Given the description of an element on the screen output the (x, y) to click on. 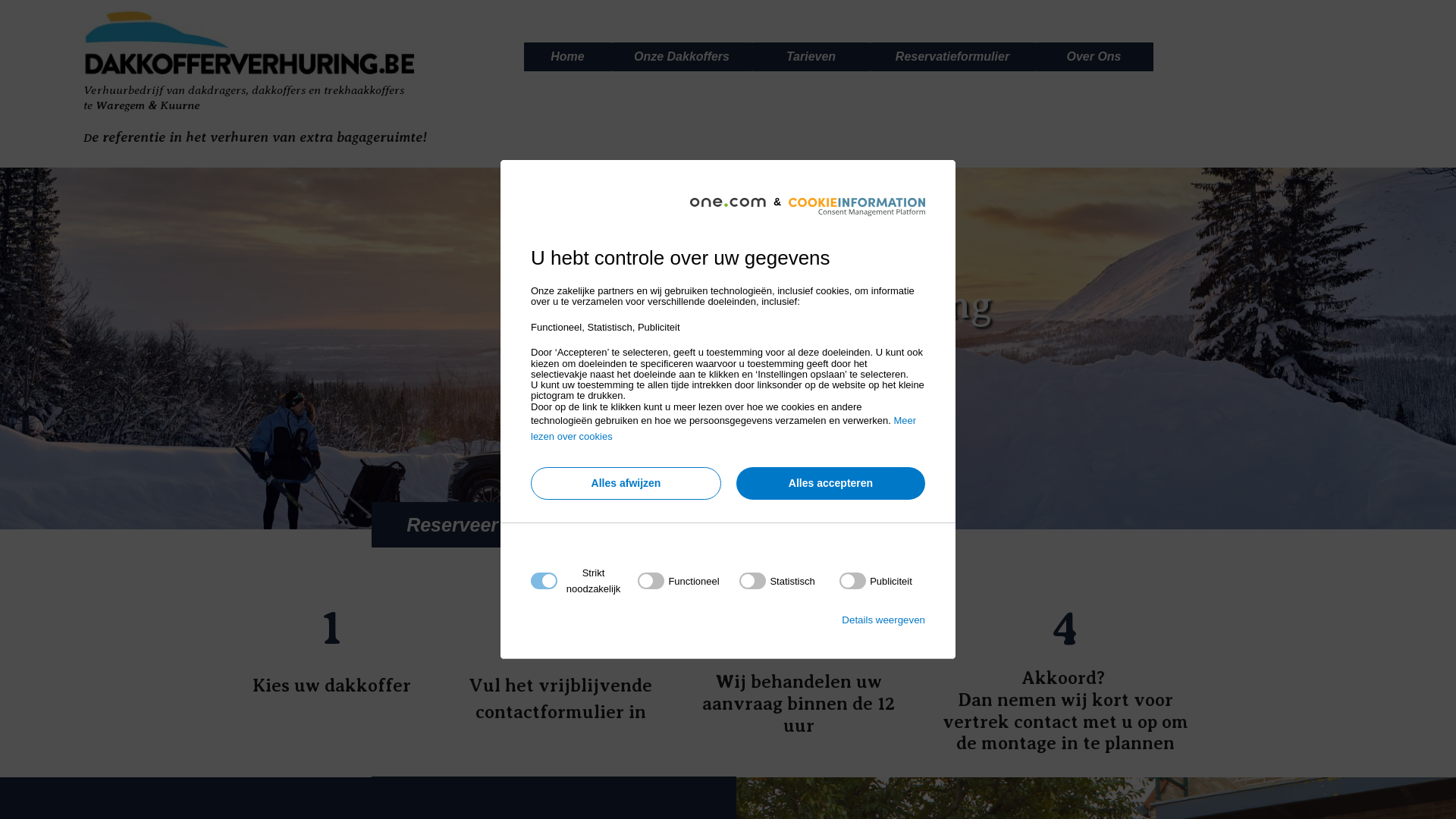
Alles accepteren Element type: text (830, 483)
Tarieven Element type: text (811, 56)
Reservatieformulier Element type: text (952, 56)
Onze Dakkoffers Element type: text (681, 56)
Alles afwijzen Element type: text (625, 483)
on Element type: text (776, 580)
on Element type: text (677, 580)
Functioneel Element type: text (723, 763)
Home Element type: text (567, 56)
Over Ons Element type: text (1094, 56)
on Element type: text (875, 580)
Strikt noodzakelijk Element type: text (723, 673)
Reserveer nu! Element type: text (469, 524)
Meer lezen over cookies Element type: text (723, 428)
Details weergeven Element type: text (883, 619)
